Given the description of an element on the screen output the (x, y) to click on. 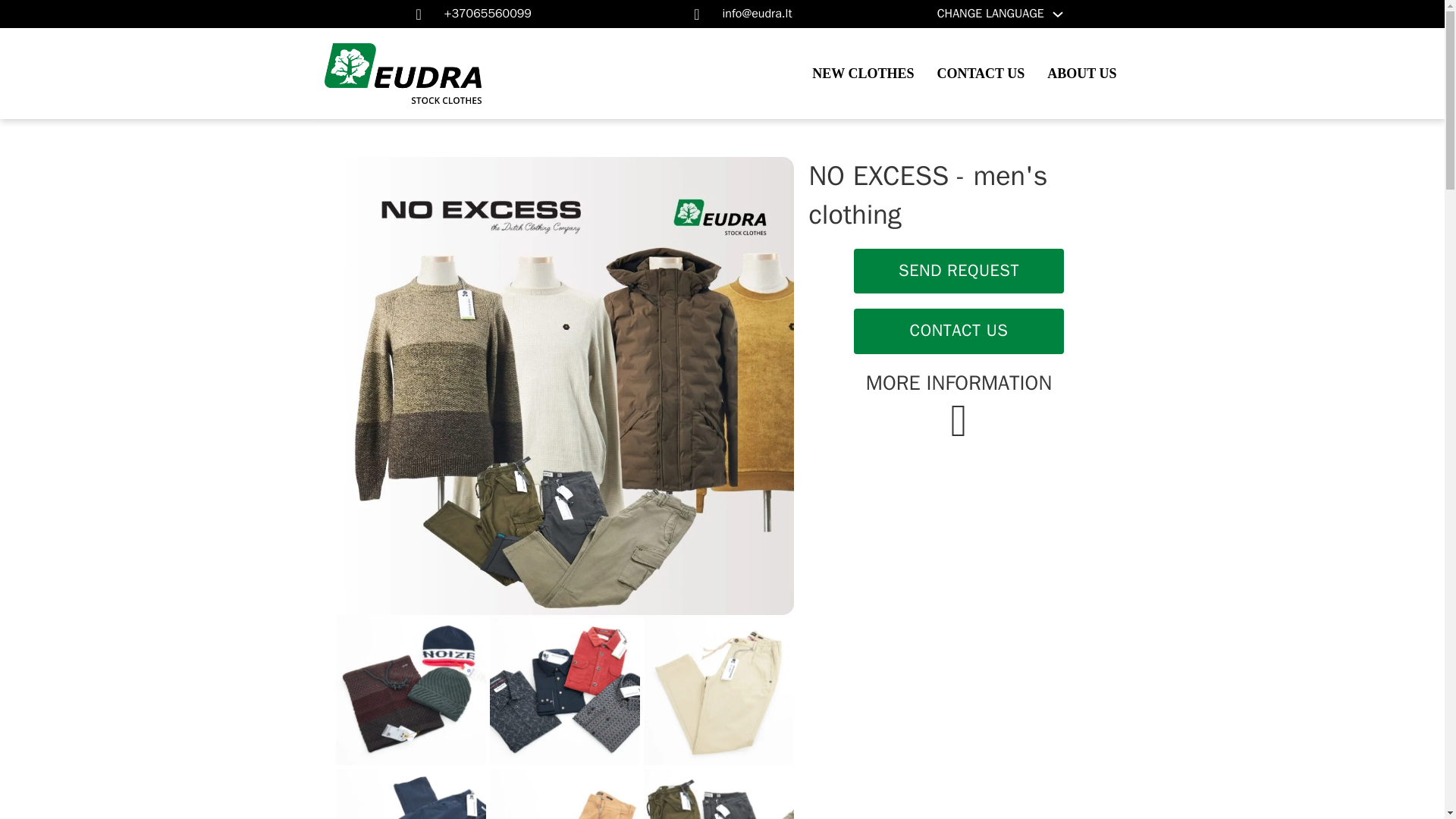
NEW CLOTHES (863, 73)
ABOUT US (1081, 73)
CONTACT US (980, 73)
